Given the description of an element on the screen output the (x, y) to click on. 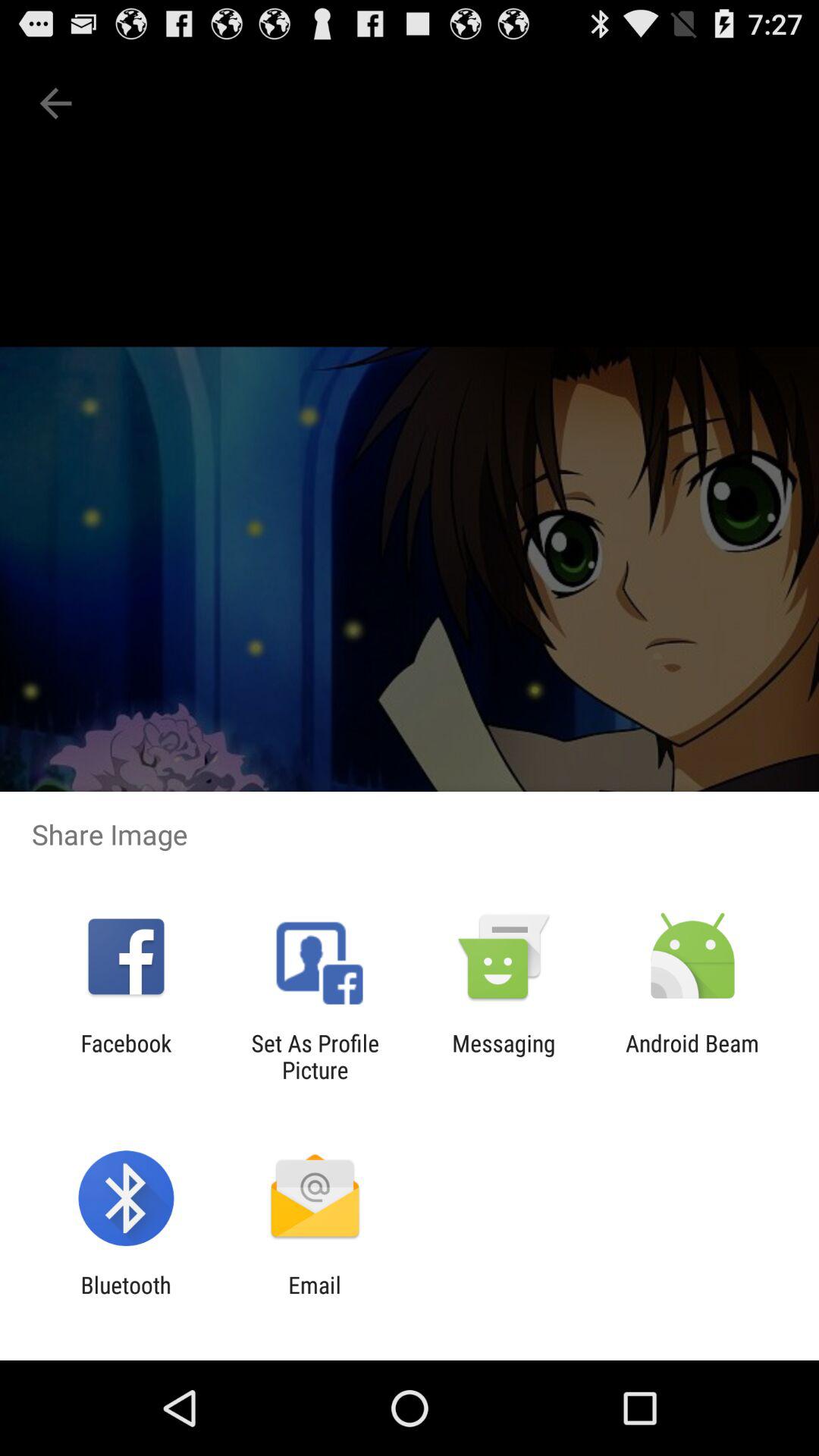
scroll to messaging item (503, 1056)
